Given the description of an element on the screen output the (x, y) to click on. 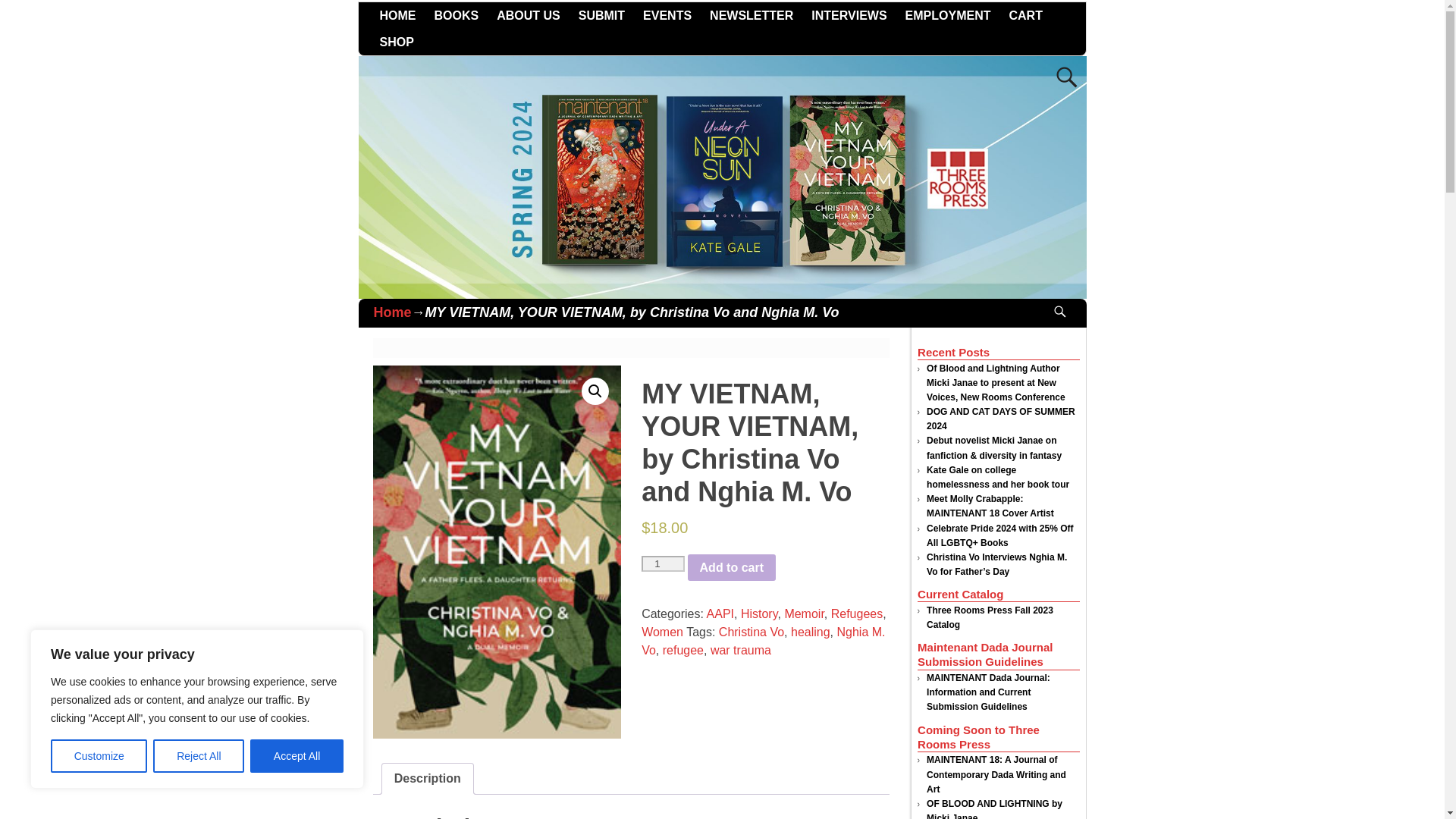
Reject All (198, 756)
HOME (397, 15)
Accept All (296, 756)
AAPI (719, 613)
Christina Vo (751, 631)
History (759, 613)
CART (1024, 15)
NEWSLETTER (751, 15)
INTERVIEWS (848, 15)
Home (391, 312)
Memoir (804, 613)
Refugees (857, 613)
SHOP (395, 41)
EVENTS (666, 15)
ABOUT US (528, 15)
